Given the description of an element on the screen output the (x, y) to click on. 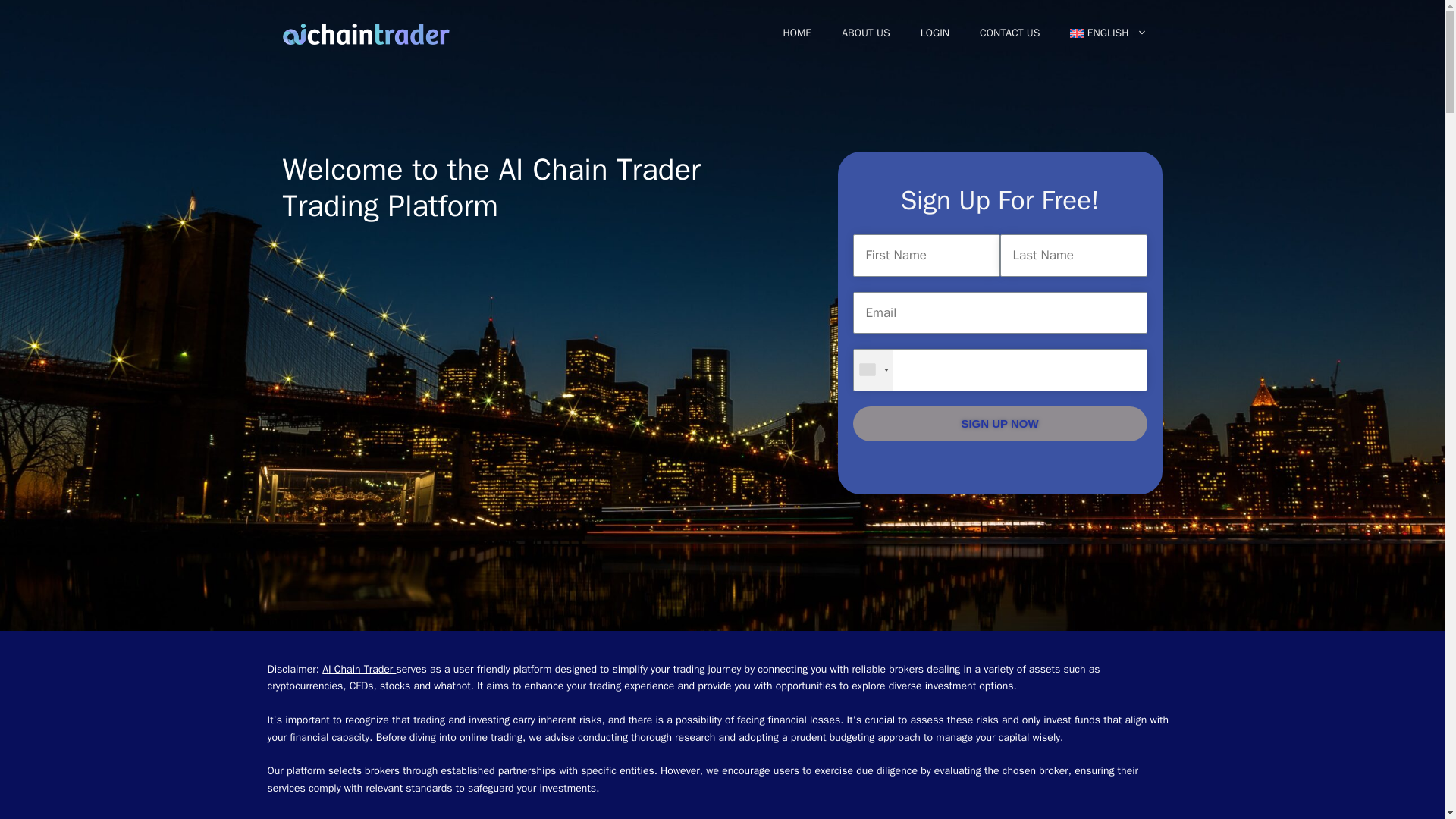
ENGLISH (1107, 32)
AI Chain Trader (358, 668)
LOGIN (934, 32)
SIGN UP NOW (999, 424)
CONTACT US (1008, 32)
ABOUT US (866, 32)
English (1107, 32)
HOME (797, 32)
